Given the description of an element on the screen output the (x, y) to click on. 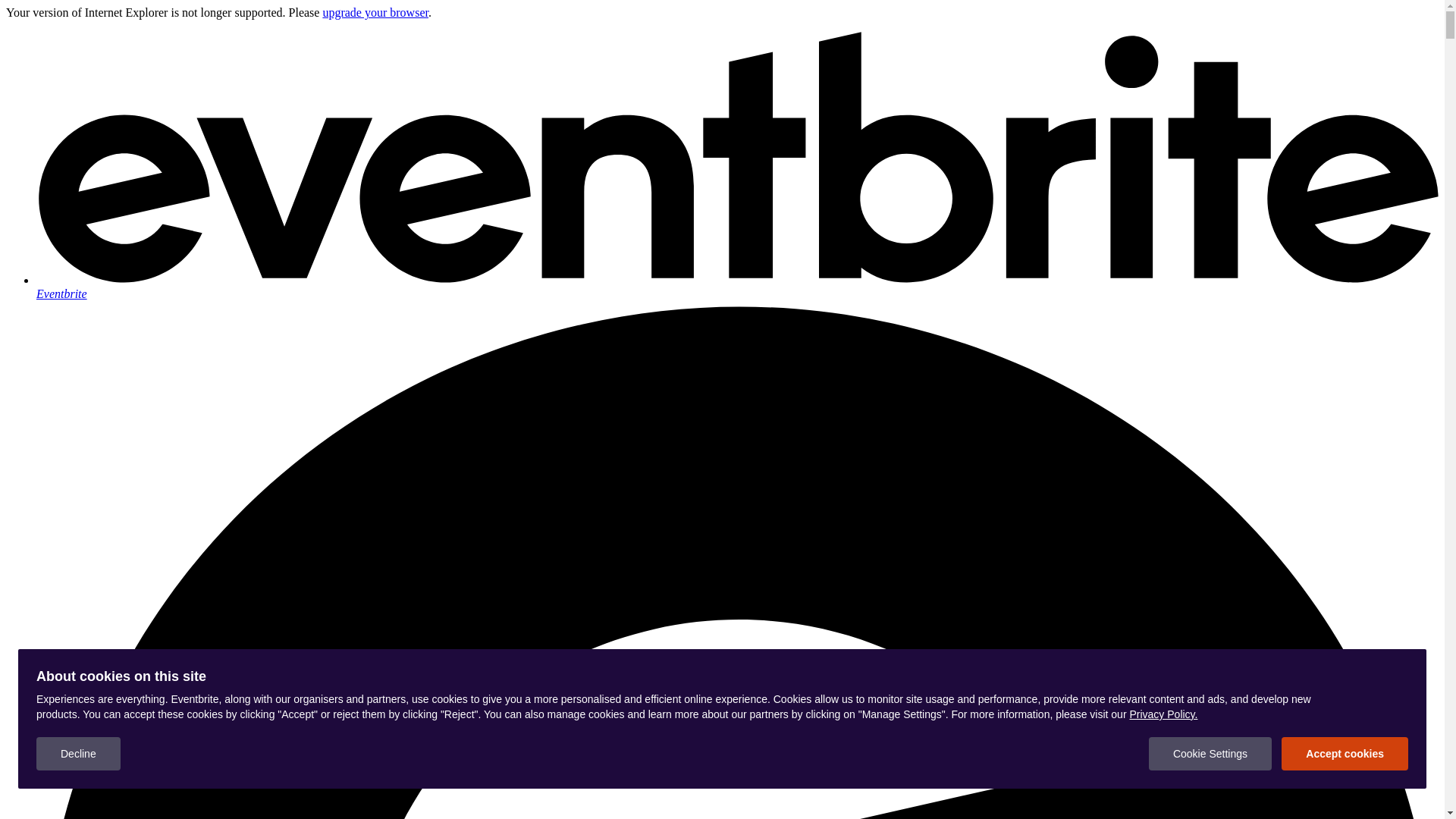
Decline Element type: text (78, 753)
Eventbrite Element type: text (737, 286)
upgrade your browser Element type: text (375, 12)
Accept cookies Element type: text (1344, 753)
Cookie Settings Element type: text (1209, 753)
Privacy Policy. Element type: text (1163, 714)
